Given the description of an element on the screen output the (x, y) to click on. 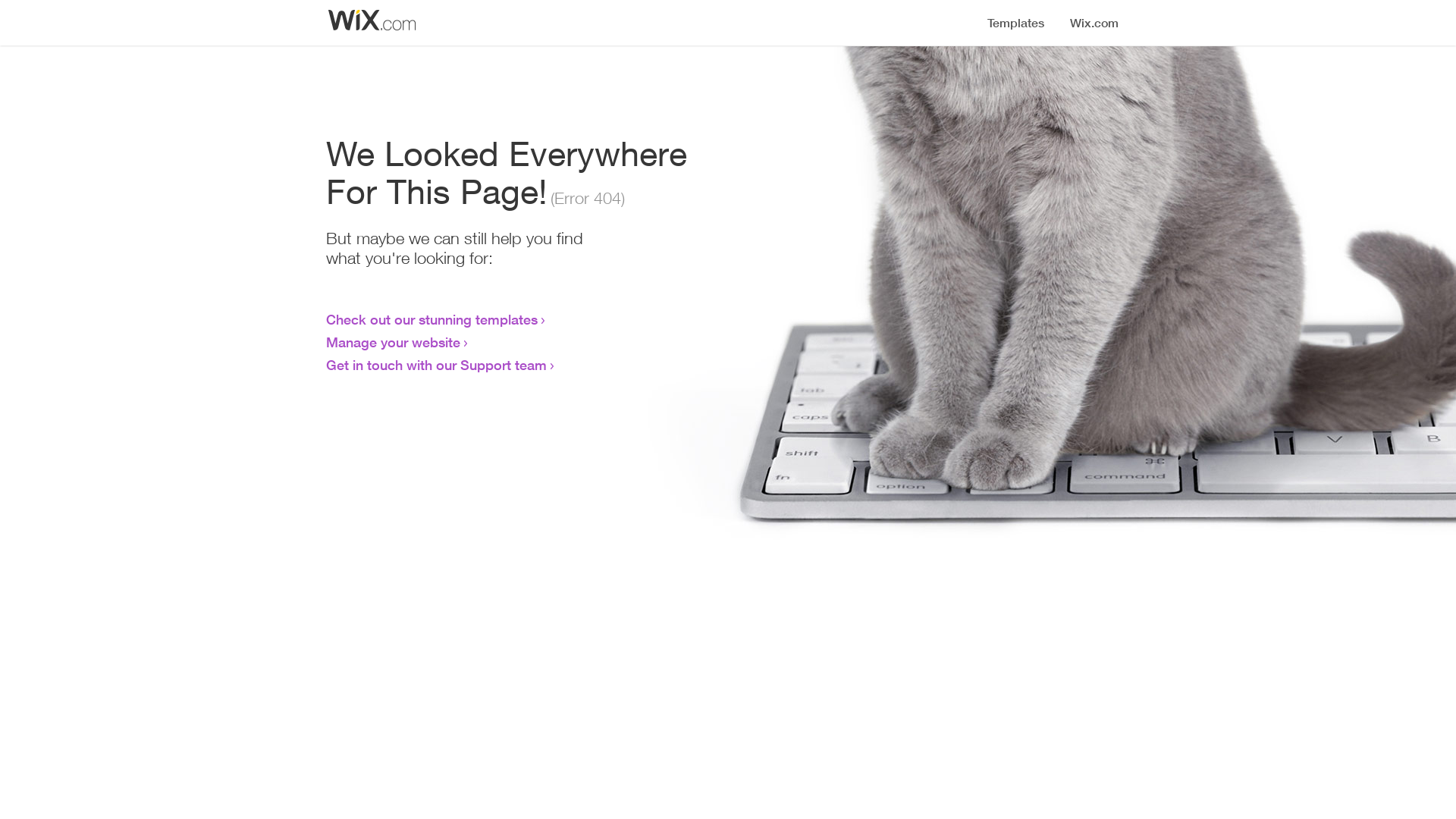
Get in touch with our Support team Element type: text (436, 364)
Check out our stunning templates Element type: text (431, 318)
Manage your website Element type: text (393, 341)
